Given the description of an element on the screen output the (x, y) to click on. 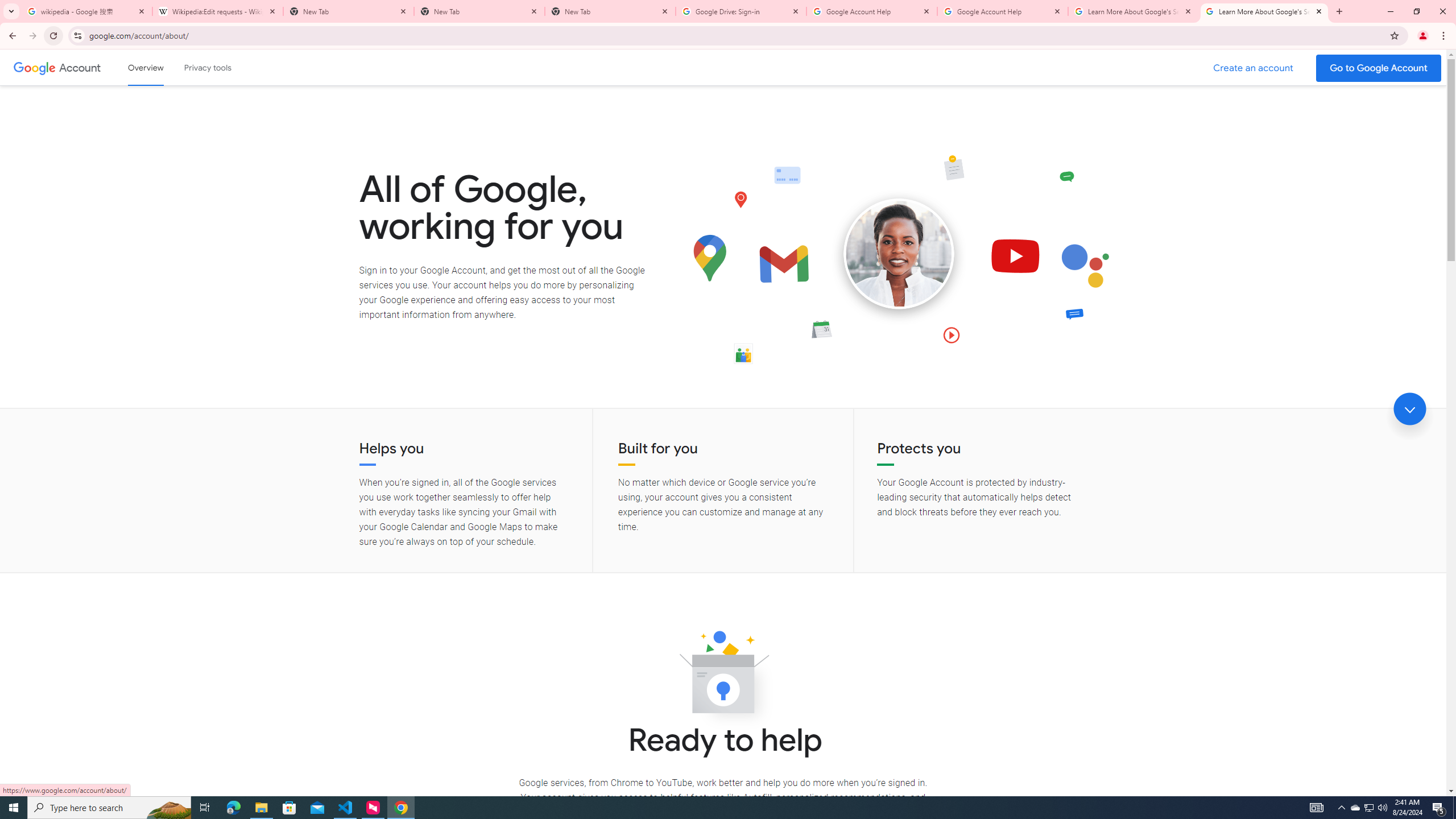
Privacy tools (207, 67)
Google Account Help (871, 11)
Google Account Help (1002, 11)
Jump link (1409, 408)
Go to your Google Account (1378, 67)
New Tab (610, 11)
